Given the description of an element on the screen output the (x, y) to click on. 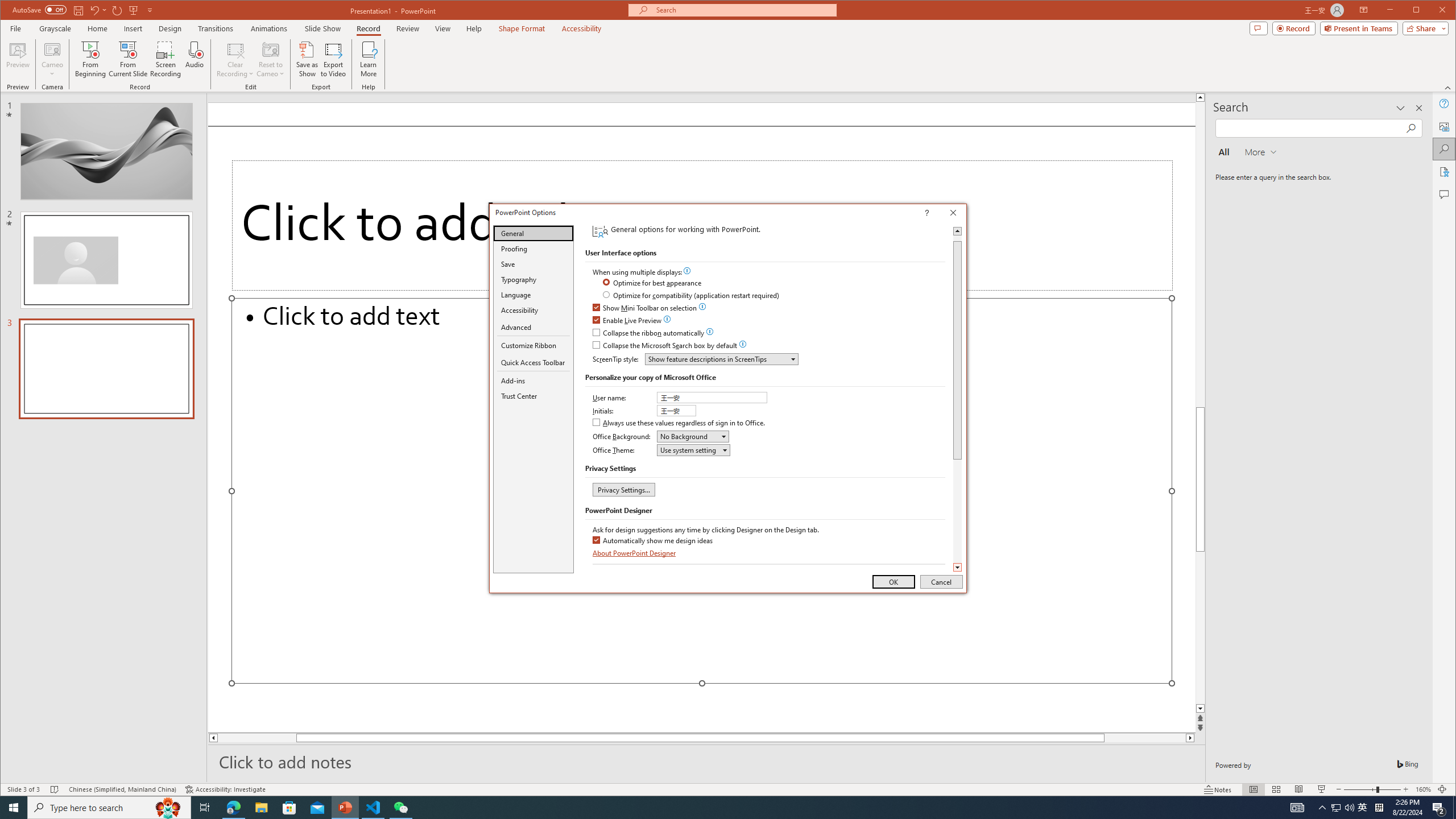
Context help (943, 214)
Learn More (368, 59)
Privacy Settings... (623, 489)
OK (893, 581)
